Given the description of an element on the screen output the (x, y) to click on. 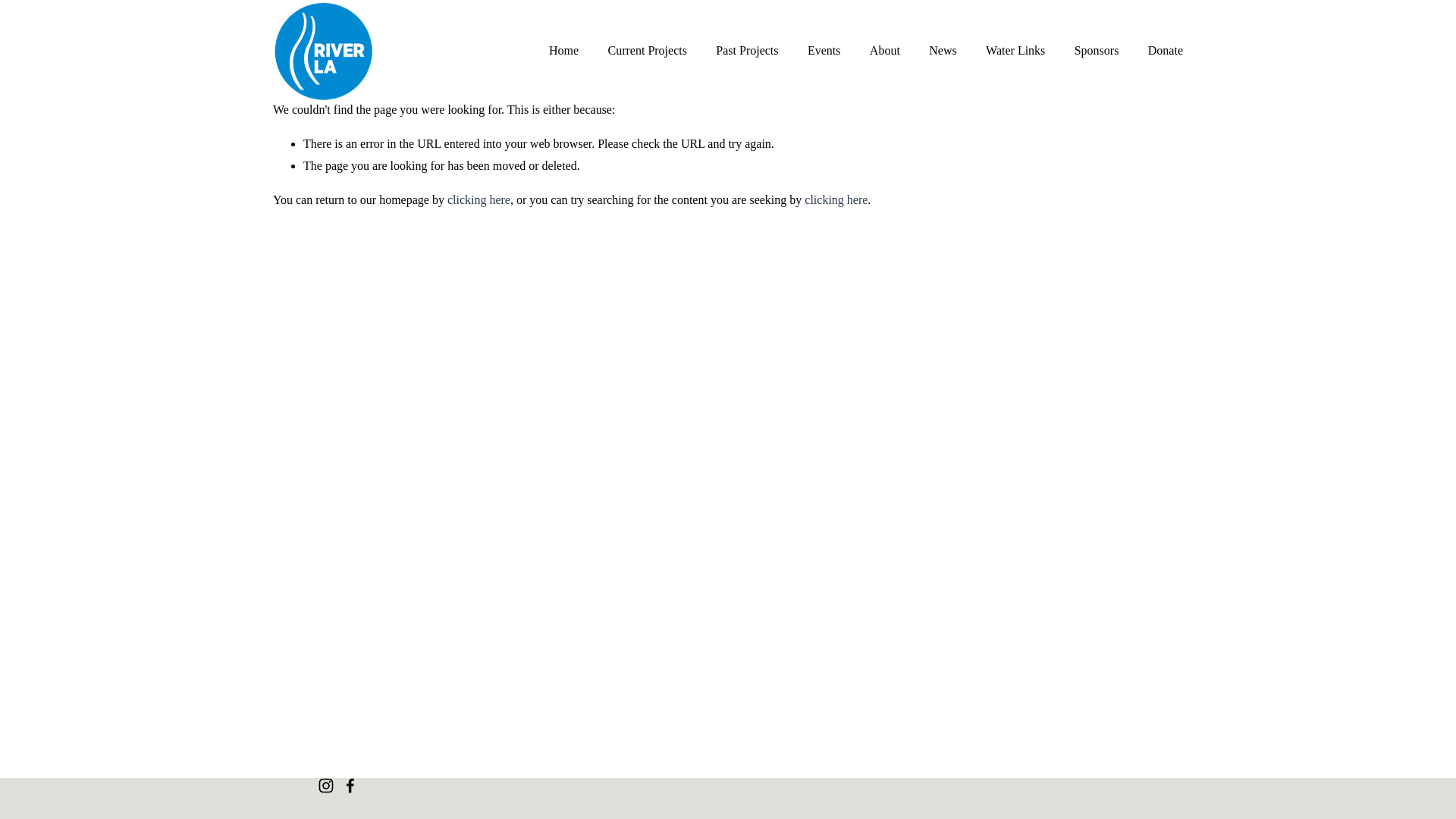
Sponsors (1096, 50)
Events (824, 50)
Donate (1165, 50)
clicking here (478, 199)
About (884, 50)
clicking here (836, 199)
Home (563, 50)
News (942, 50)
Water Links (1015, 50)
Past Projects (746, 50)
